Given the description of an element on the screen output the (x, y) to click on. 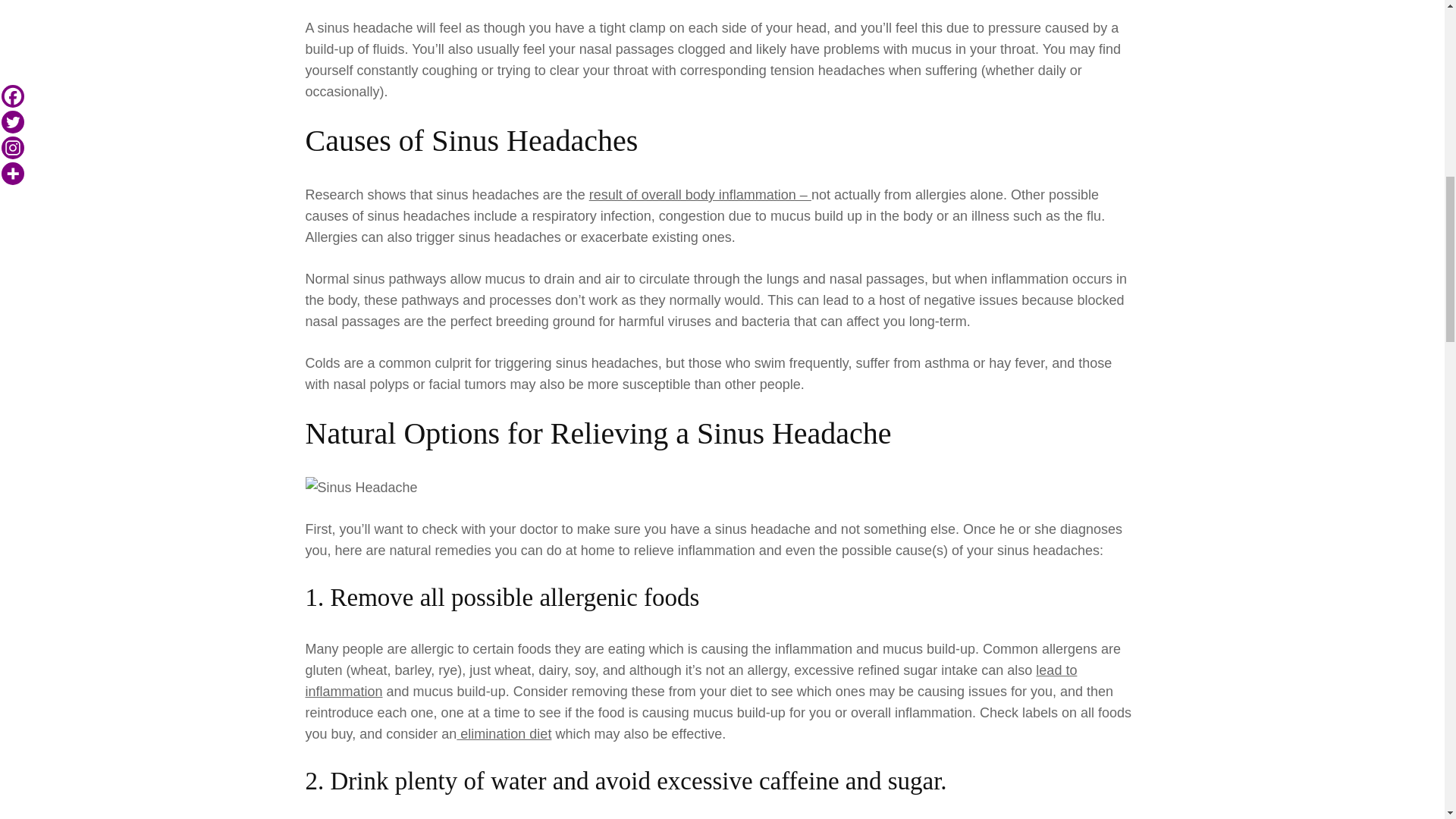
elimination diet (504, 734)
lead to inflammation (690, 680)
